Given the description of an element on the screen output the (x, y) to click on. 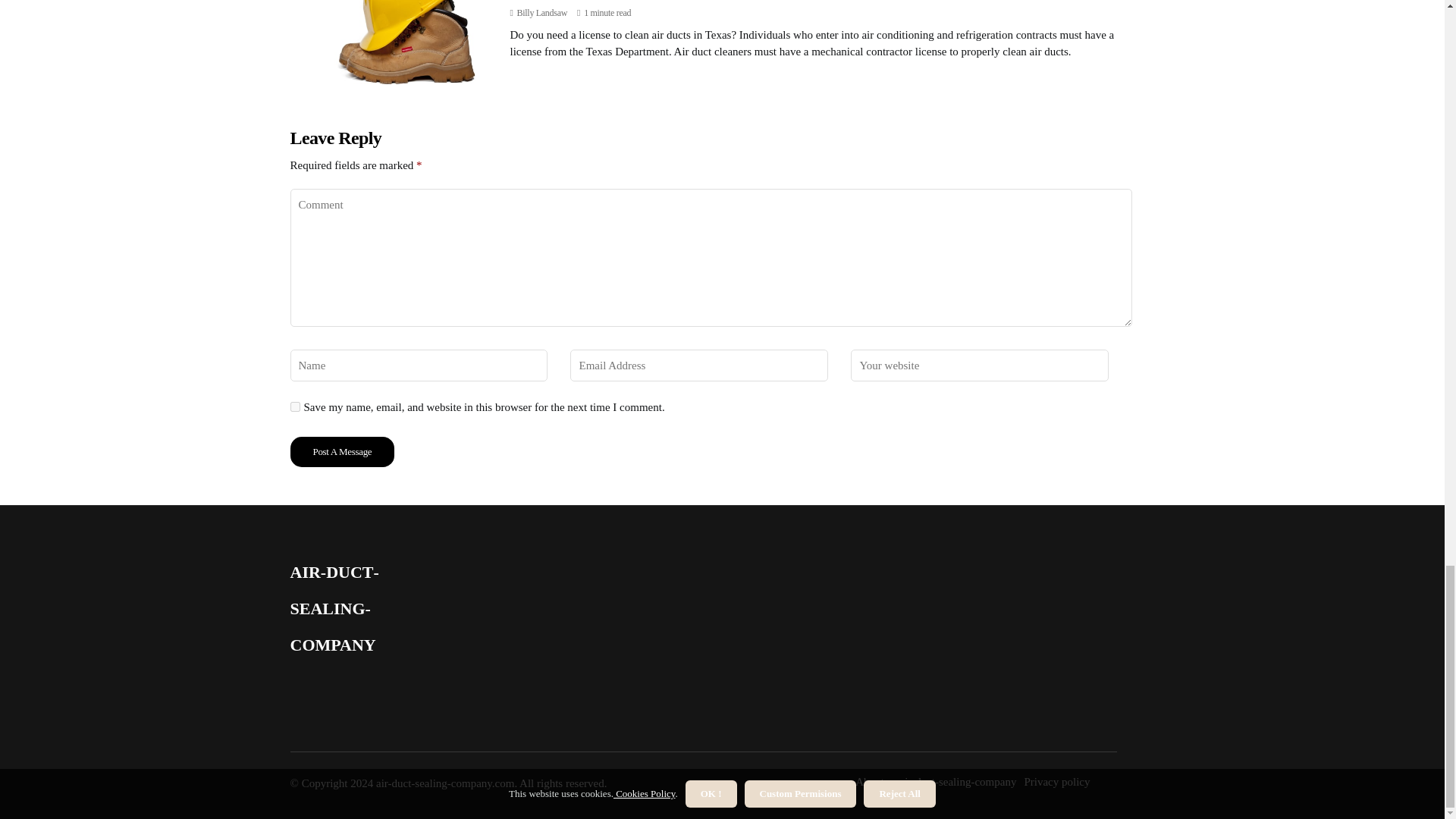
Post a Message (341, 451)
Posts by Billy Landsaw (541, 12)
yes (294, 406)
Billy Landsaw (541, 12)
Post a Message (341, 451)
